Given the description of an element on the screen output the (x, y) to click on. 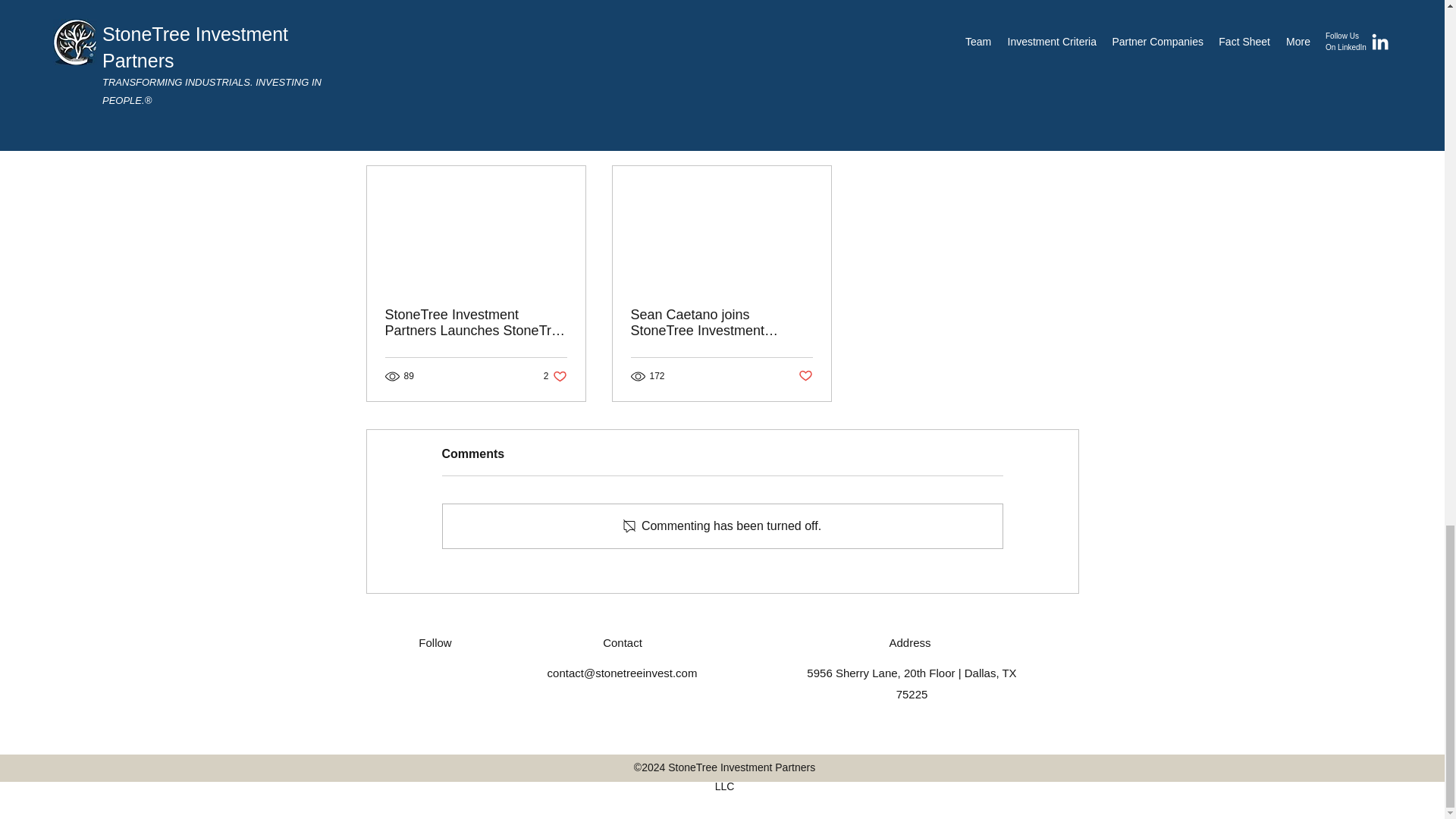
General Announcements (944, 10)
Post not marked as liked (995, 56)
Post not marked as liked (804, 375)
See All (555, 376)
